Given the description of an element on the screen output the (x, y) to click on. 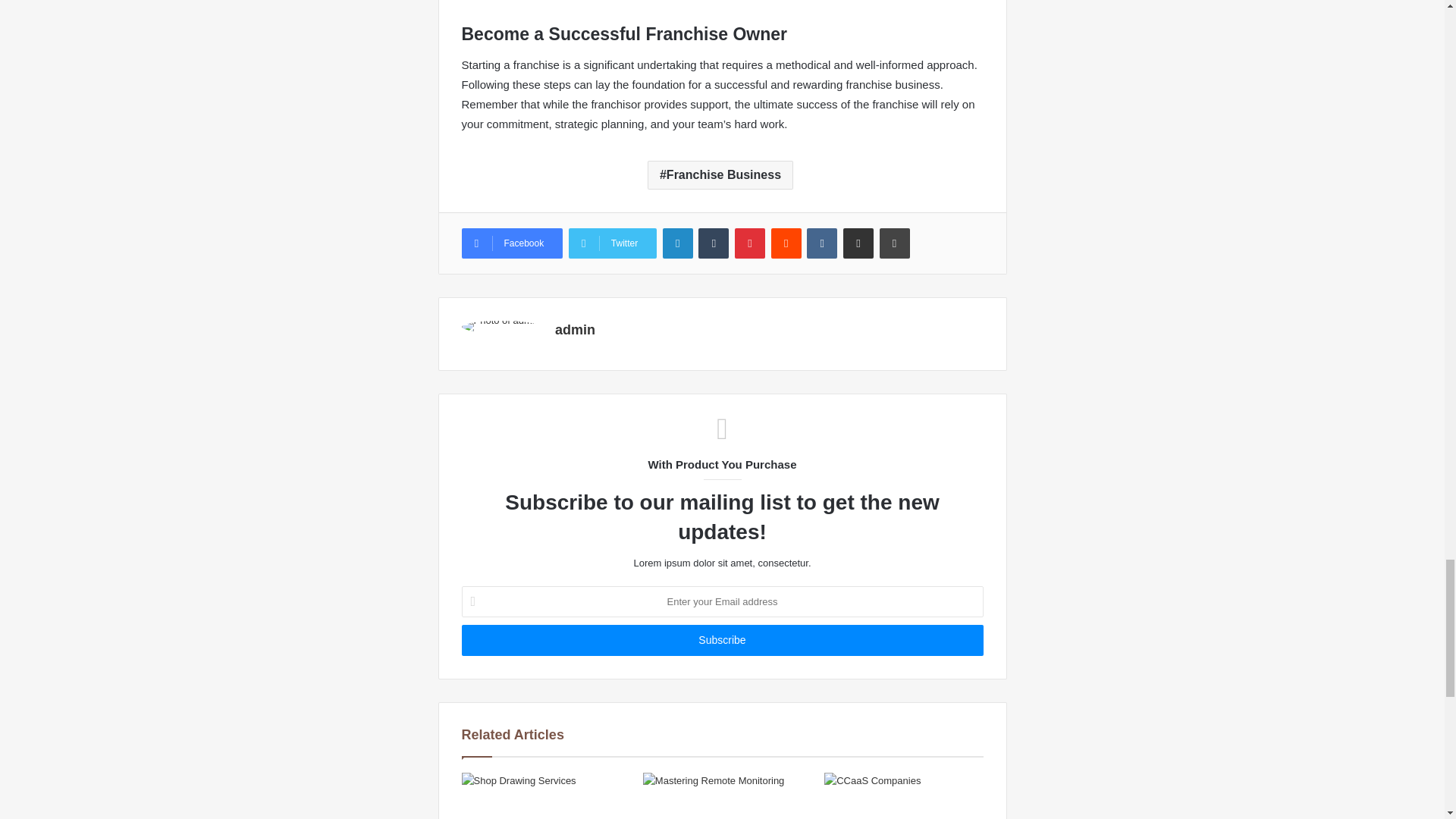
Facebook (511, 243)
Tumblr (713, 243)
Pinterest (750, 243)
Subscribe (721, 640)
Reddit (786, 243)
Facebook (511, 243)
Pinterest (750, 243)
Share via Email (858, 243)
Twitter (612, 243)
VKontakte (821, 243)
Twitter (612, 243)
Reddit (786, 243)
LinkedIn (677, 243)
Franchise Business (720, 174)
Tumblr (713, 243)
